Given the description of an element on the screen output the (x, y) to click on. 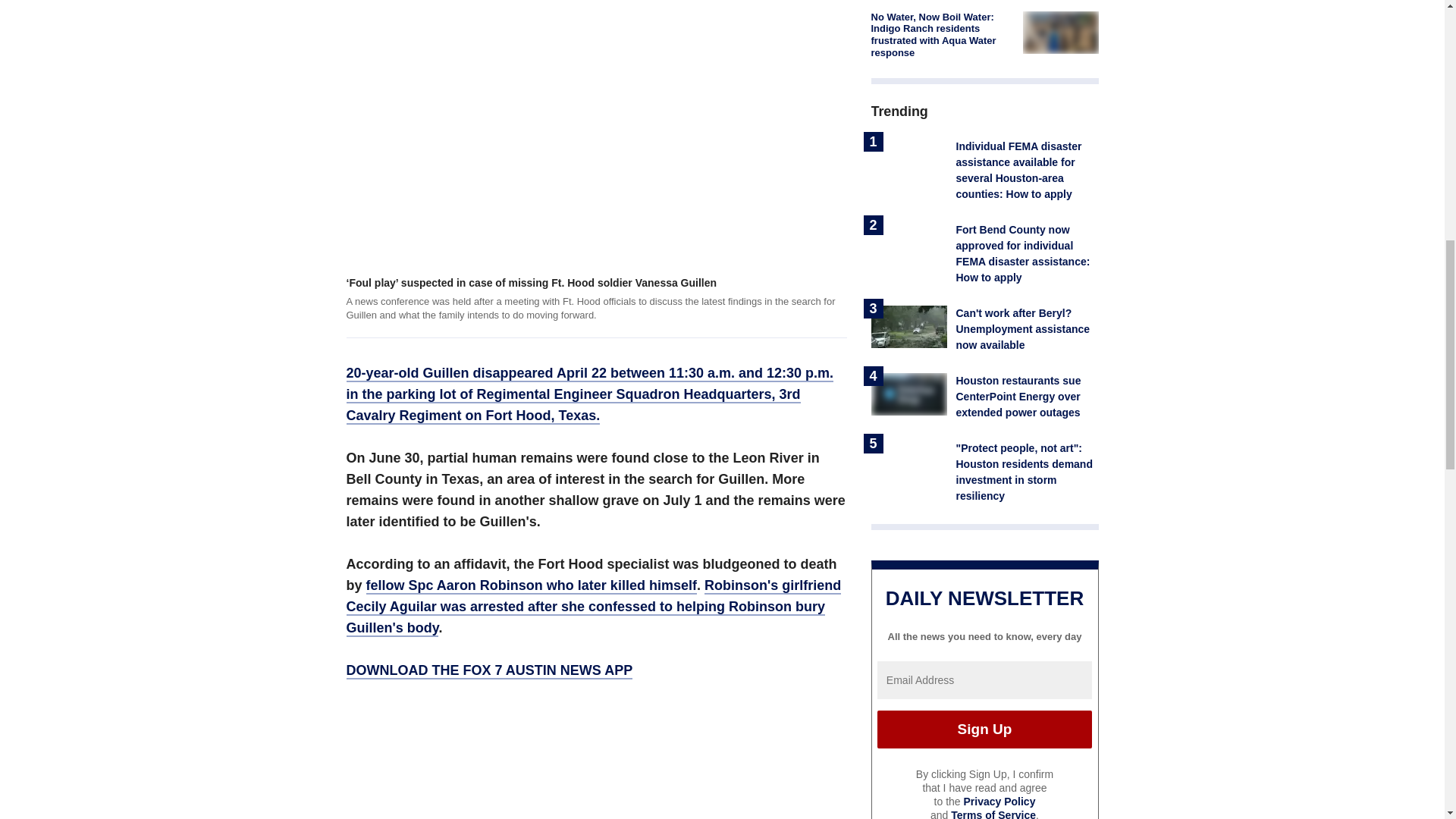
Sign Up (984, 729)
